Given the description of an element on the screen output the (x, y) to click on. 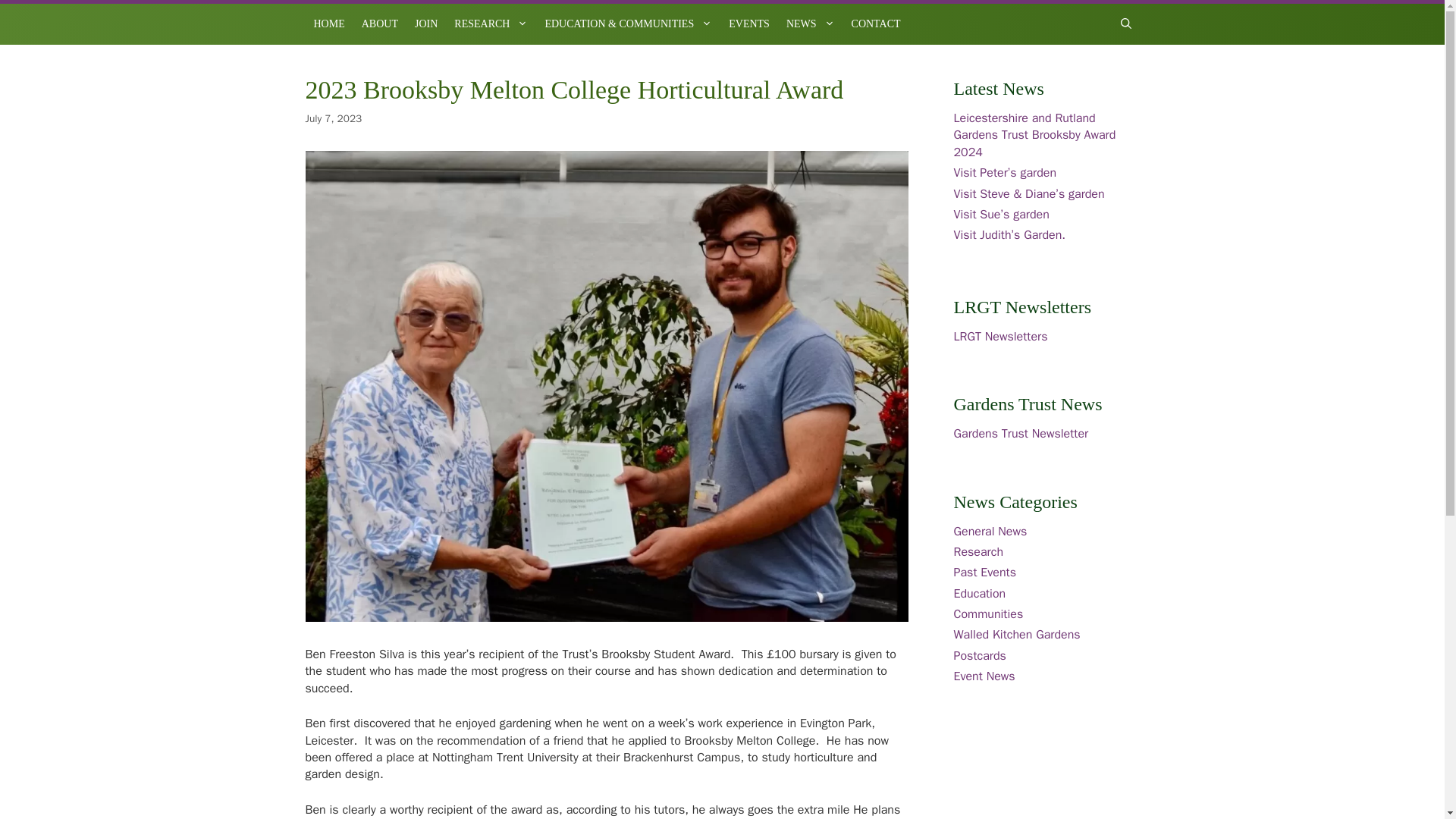
ABOUT (379, 24)
NEWS (810, 24)
CONTACT (875, 24)
HOME (328, 24)
Research (978, 551)
General News (990, 531)
Past Events (984, 572)
Leicestershire and Rutland Gardens Trust Brooksby Award 2024 (1034, 134)
Communities (988, 613)
JOIN (425, 24)
